Given the description of an element on the screen output the (x, y) to click on. 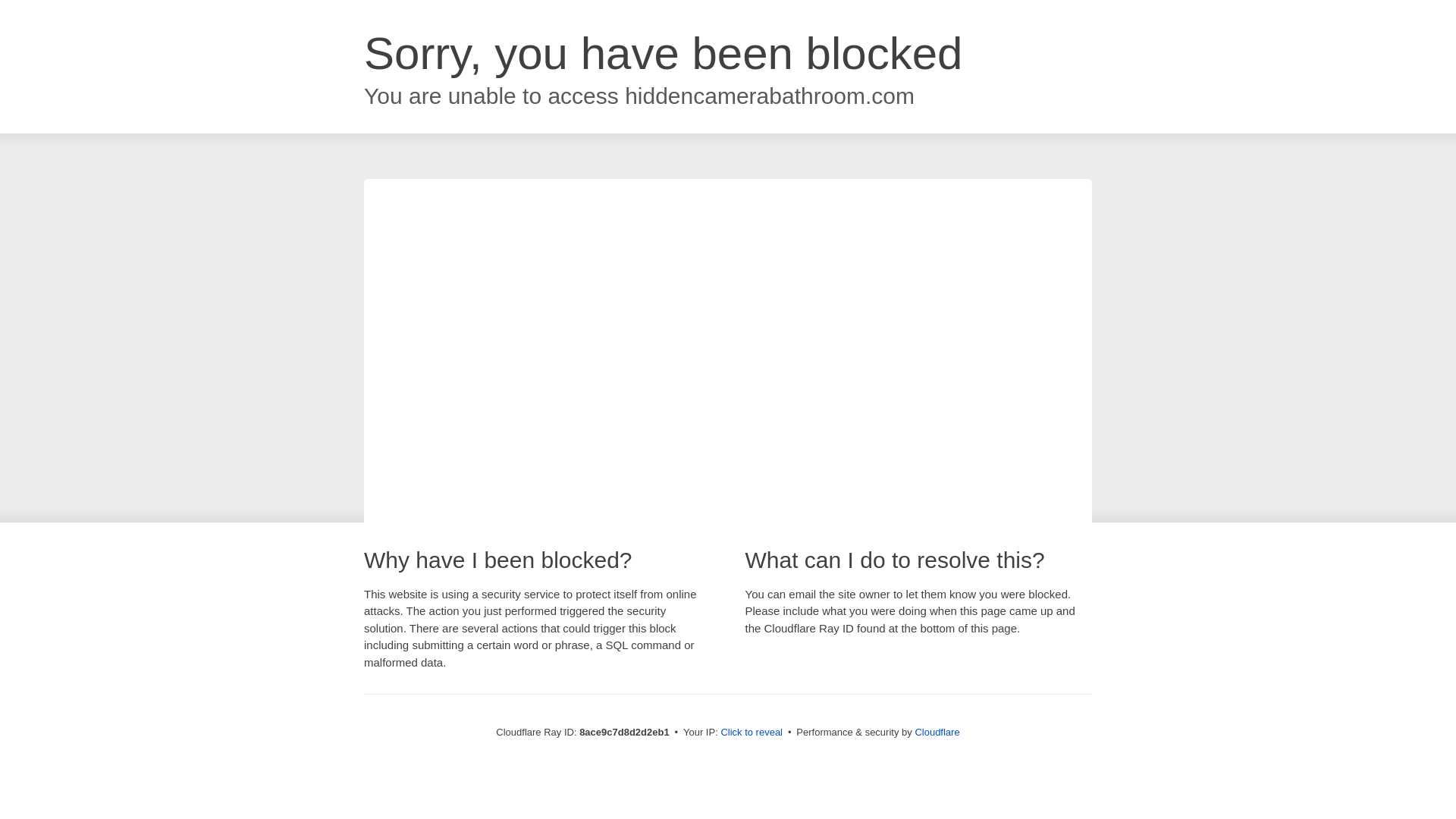
Click to reveal (751, 732)
Cloudflare (936, 731)
